Given the description of an element on the screen output the (x, y) to click on. 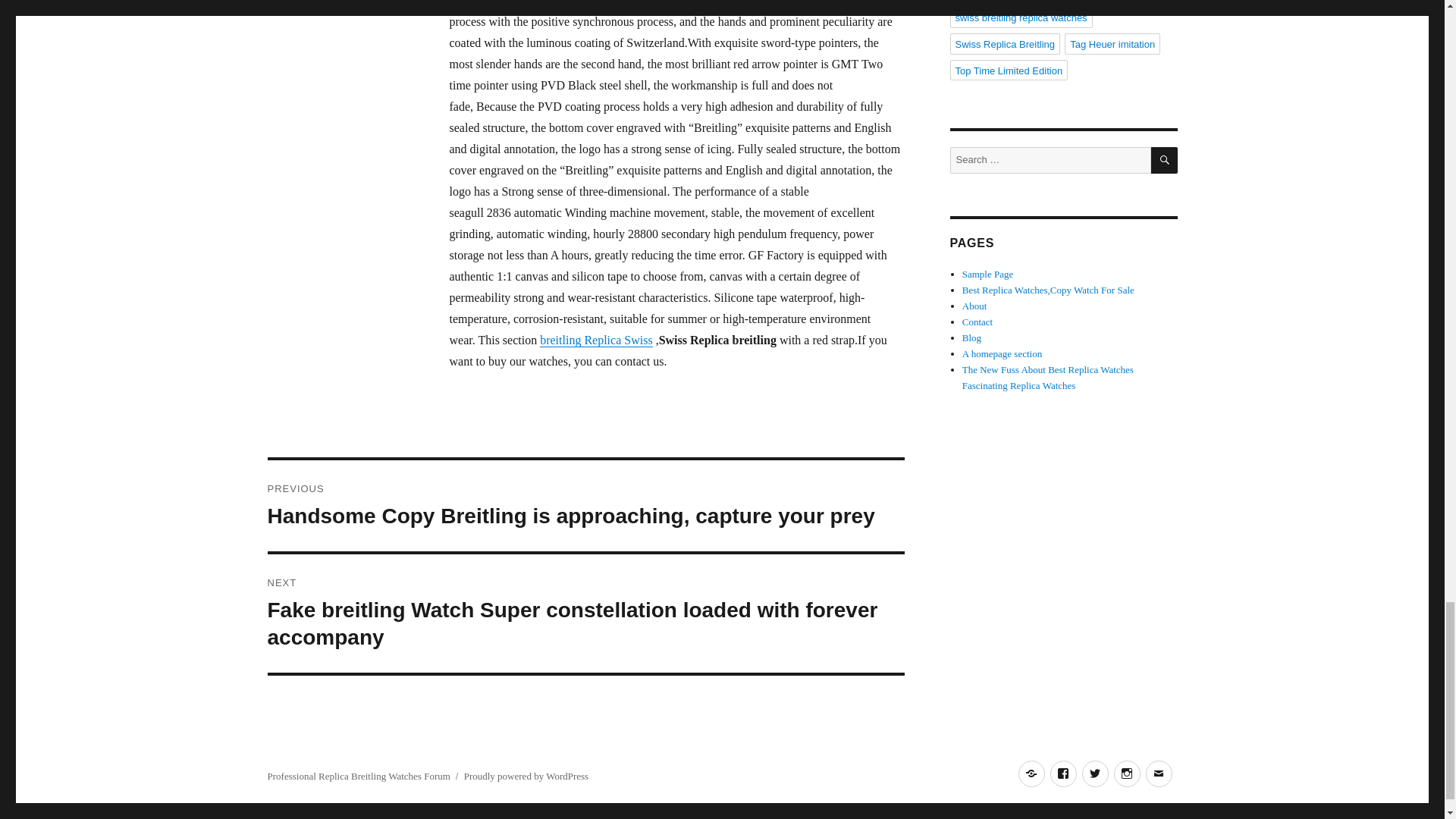
breitling Replica Swiss (596, 339)
